Given the description of an element on the screen output the (x, y) to click on. 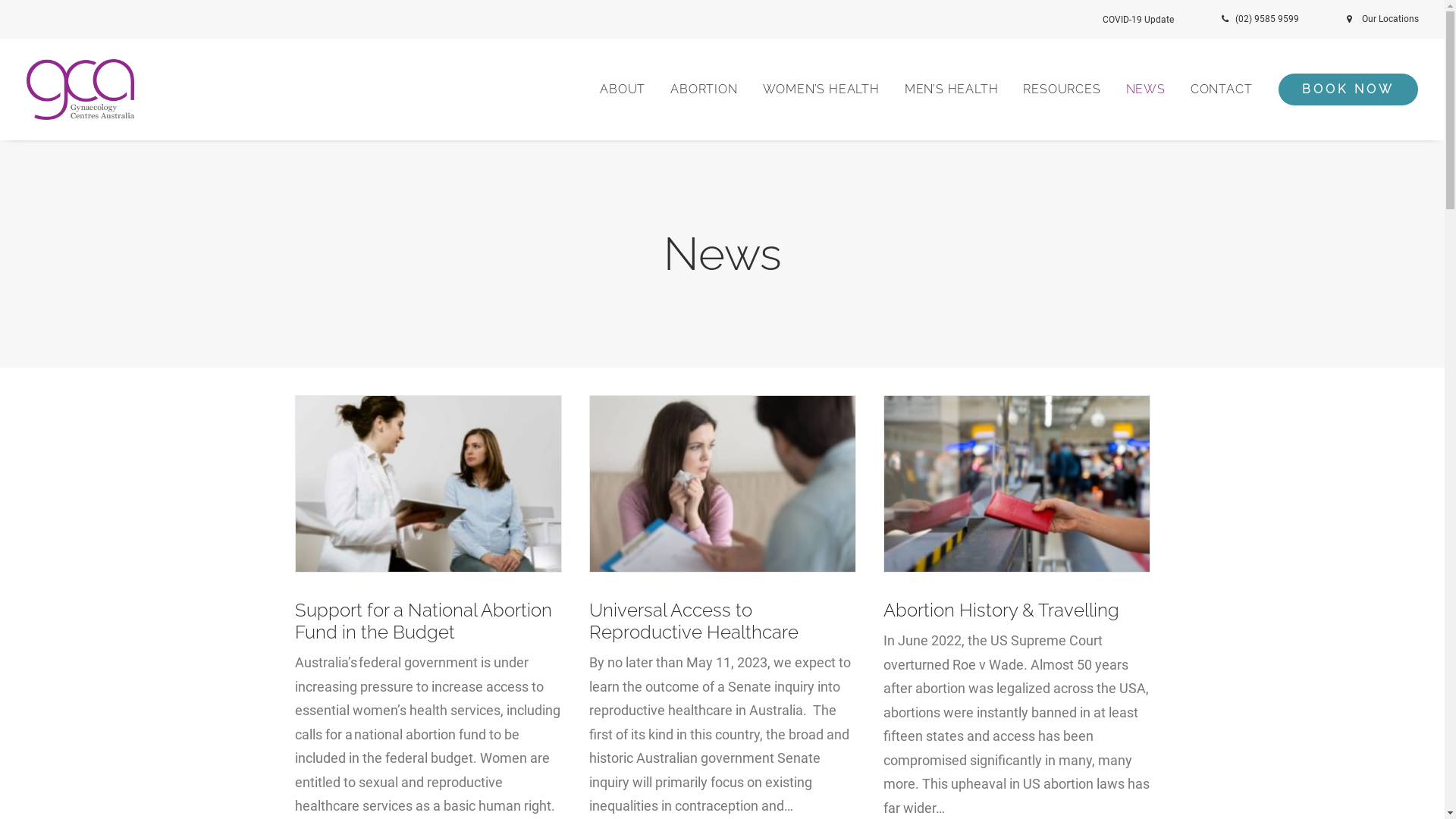
Support for a National Abortion Fund in the Budget Element type: text (422, 621)
COVID-19 Update Element type: text (1156, 19)
ABORTION Element type: text (703, 89)
Universal Access to Reproductive Healthcare Element type: text (692, 621)
BOOK NOW Element type: text (1342, 89)
CONTACT Element type: text (1221, 89)
(02) 9585 9599 Element type: text (1275, 18)
Abortion History & Travelling Element type: text (1000, 610)
ABOUT Element type: text (627, 89)
Our Locations Element type: text (1378, 18)
RESOURCES Element type: text (1061, 89)
NEWS Element type: text (1145, 89)
